Given the description of an element on the screen output the (x, y) to click on. 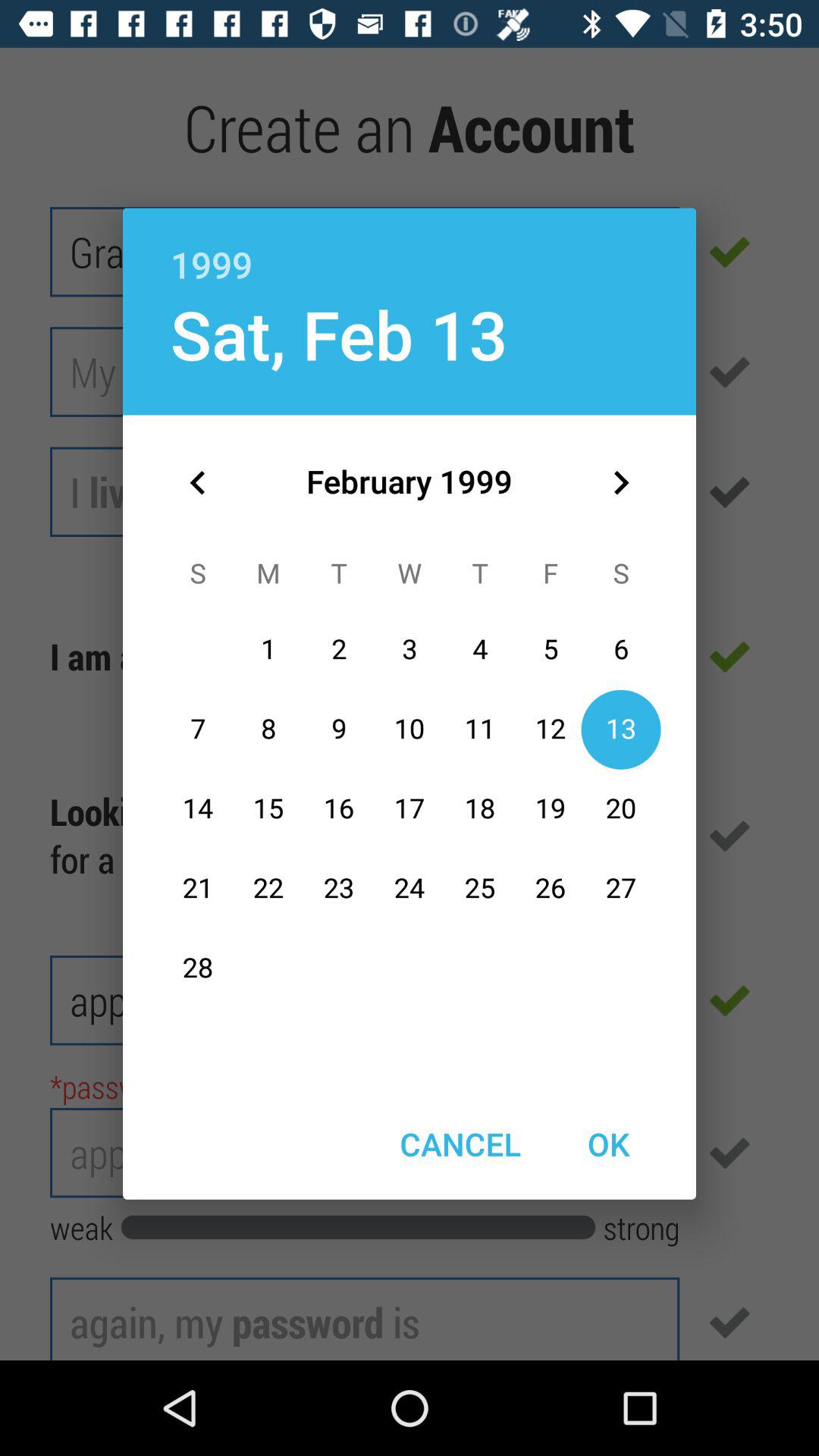
tap icon at the top left corner (197, 482)
